Given the description of an element on the screen output the (x, y) to click on. 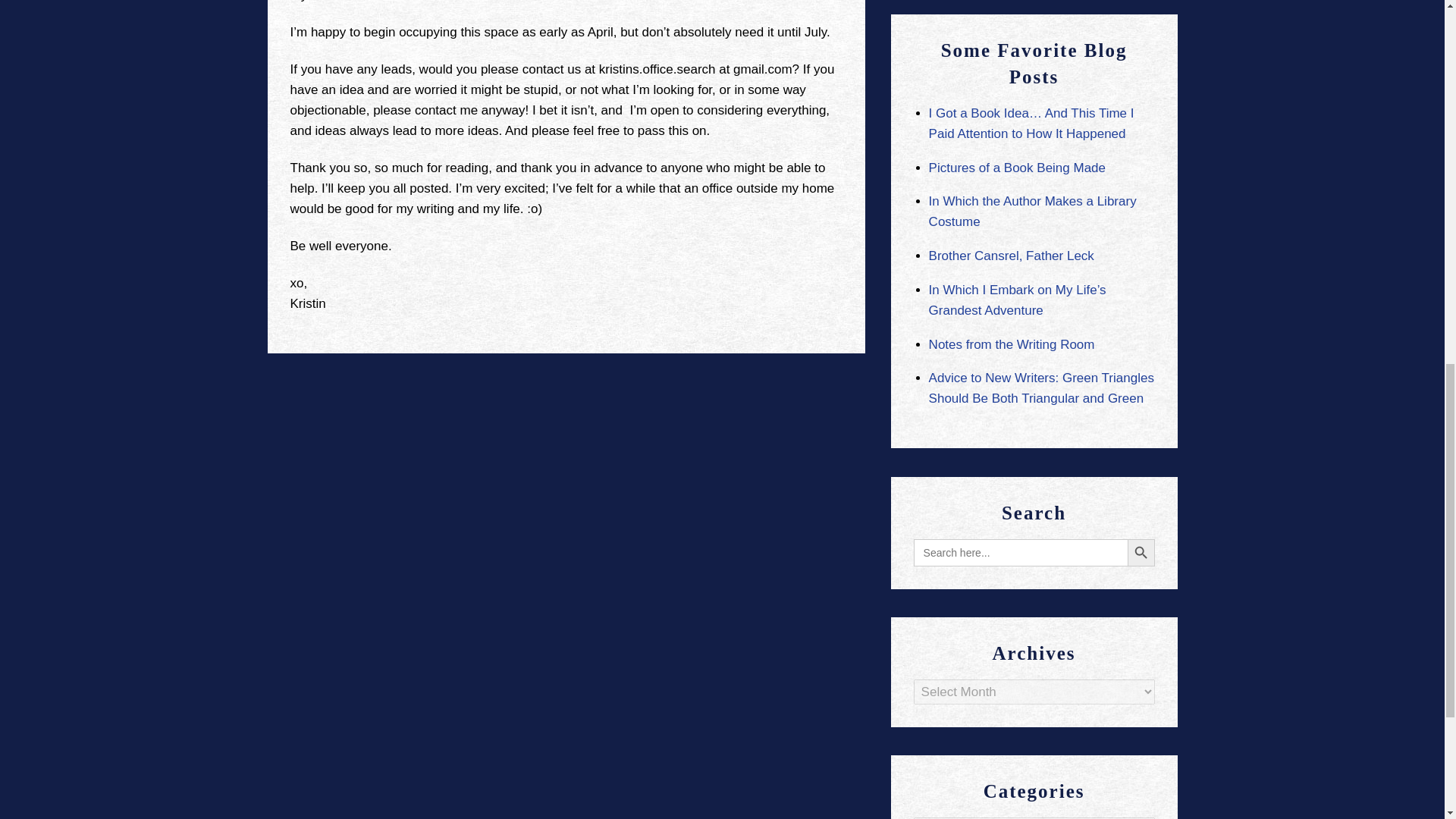
Pictures of a Book Being Made (1016, 167)
Brother Cansrel, Father Leck (1011, 255)
Notes from the Writing Room (1011, 344)
In Which the Author Makes a Library Costume (1032, 211)
Search Button (1140, 552)
